Given the description of an element on the screen output the (x, y) to click on. 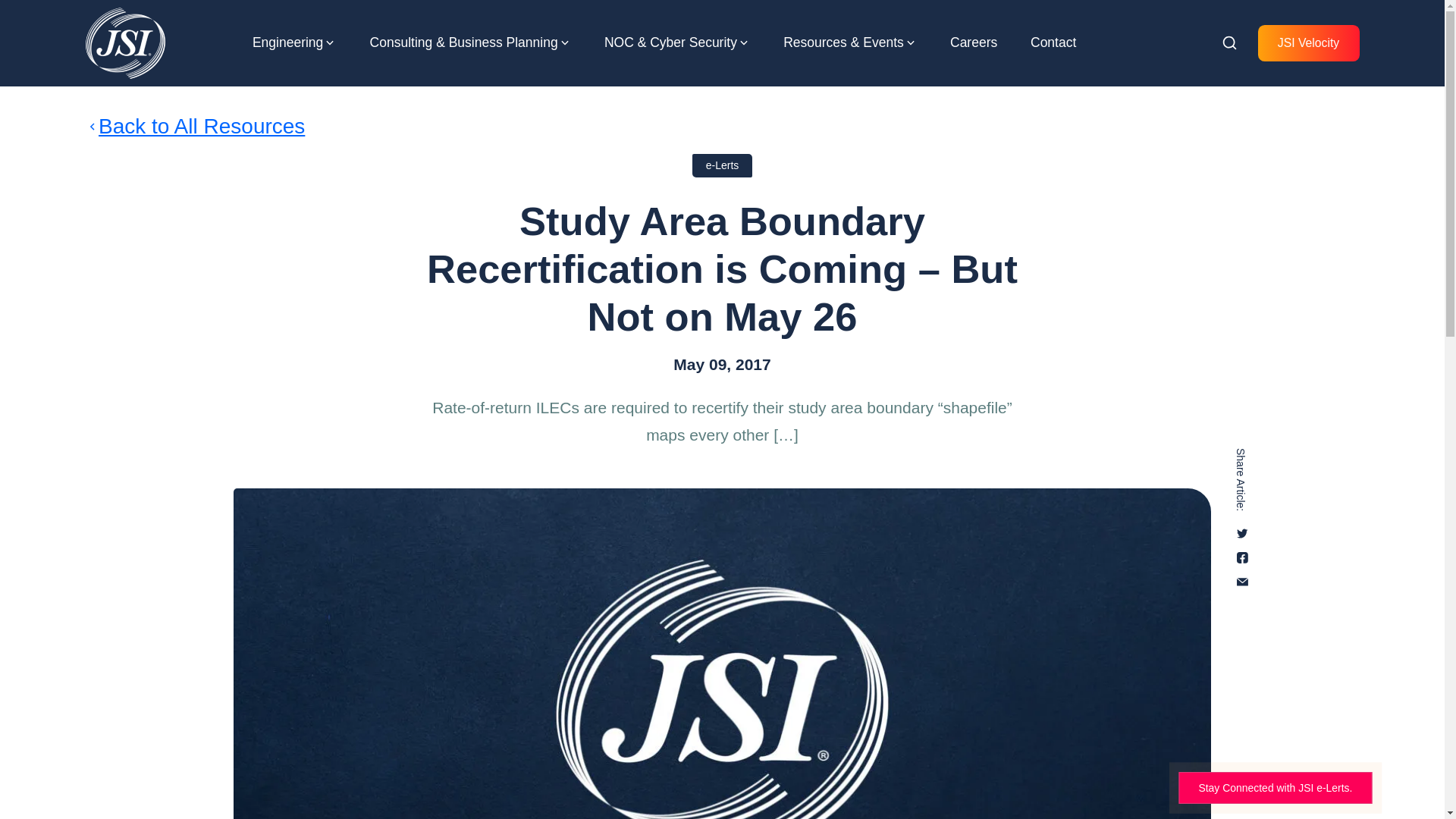
Contact (1052, 42)
Engineering (287, 42)
Careers (973, 42)
JSI Velocity (1308, 43)
Engineering (287, 42)
